Given the description of an element on the screen output the (x, y) to click on. 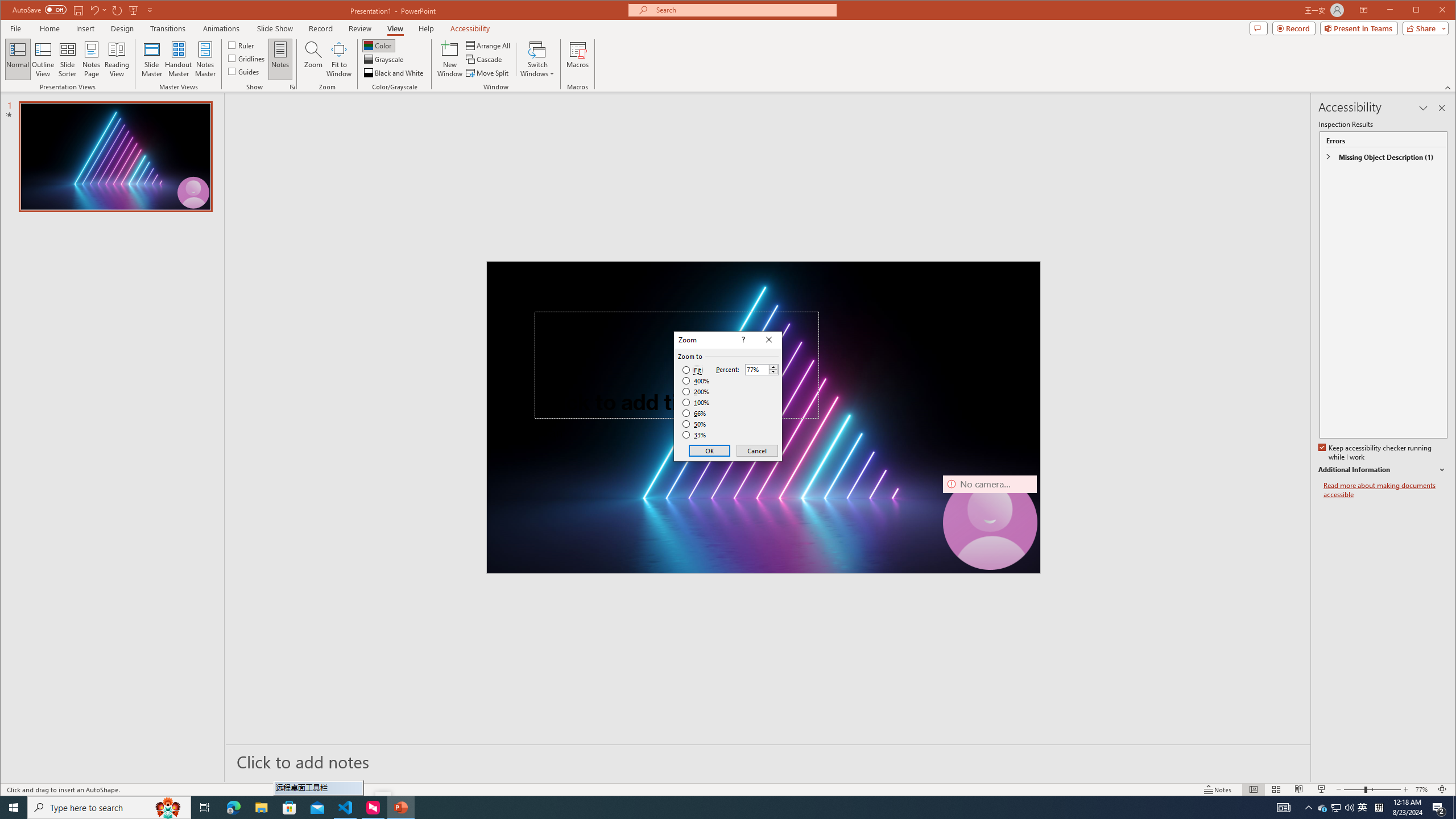
100% (696, 402)
Fit (691, 370)
33% (694, 434)
Black and White (394, 72)
Read more about making documents accessible (1385, 489)
Color (378, 45)
